Given the description of an element on the screen output the (x, y) to click on. 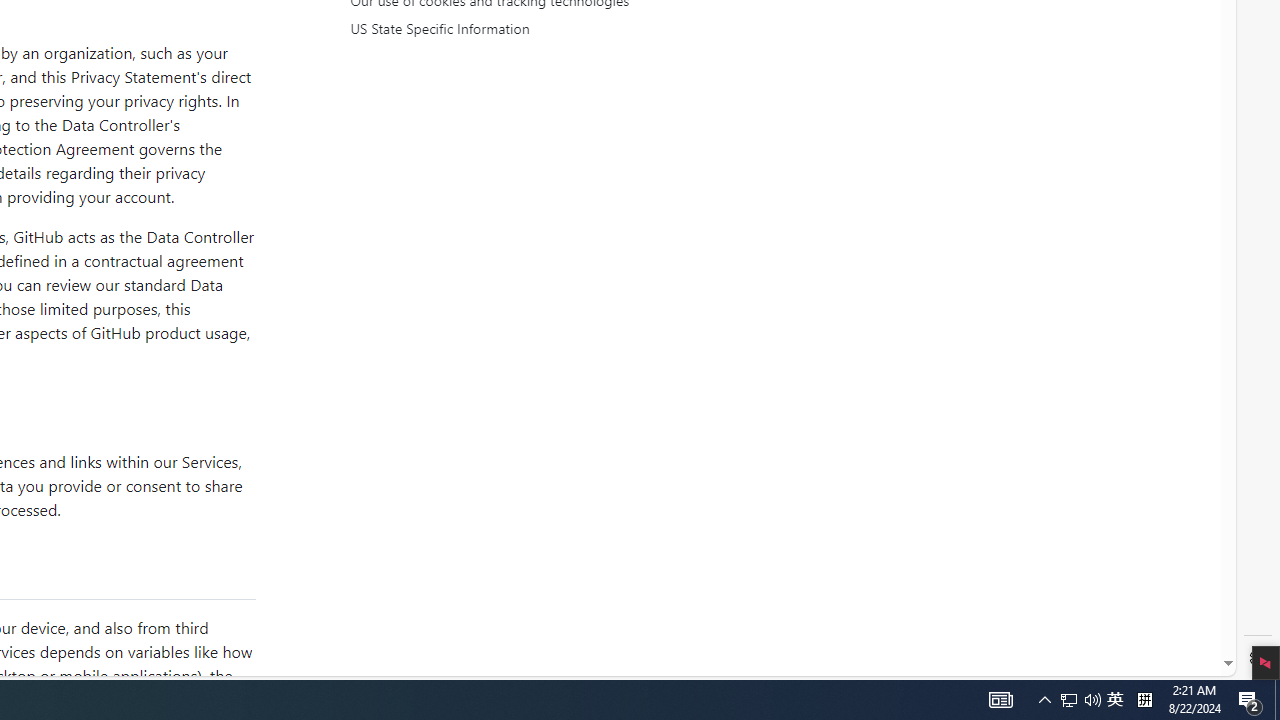
US State Specific Information (538, 29)
US State Specific Information (535, 29)
